Given the description of an element on the screen output the (x, y) to click on. 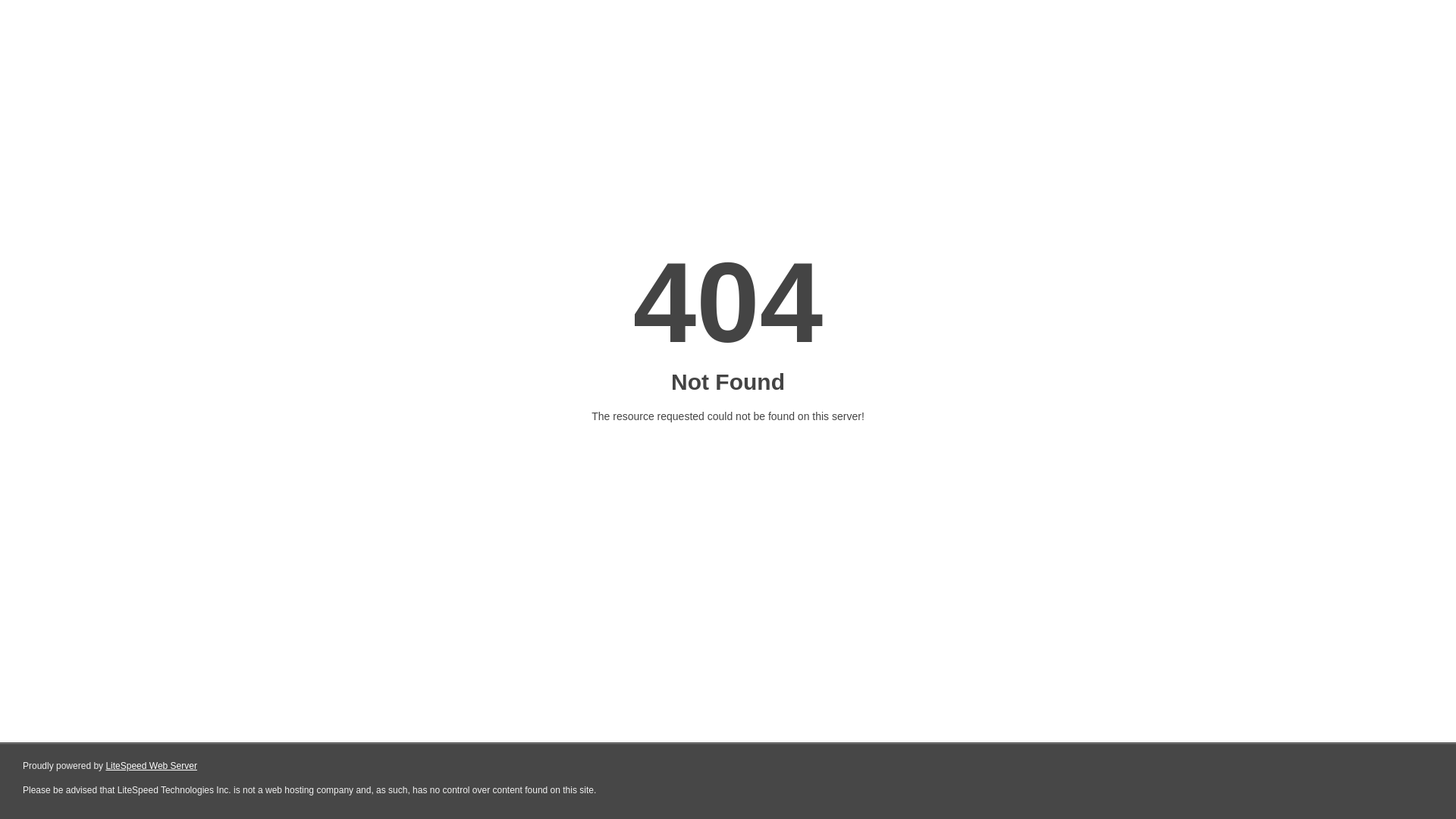
LiteSpeed Web Server Element type: text (151, 765)
